Given the description of an element on the screen output the (x, y) to click on. 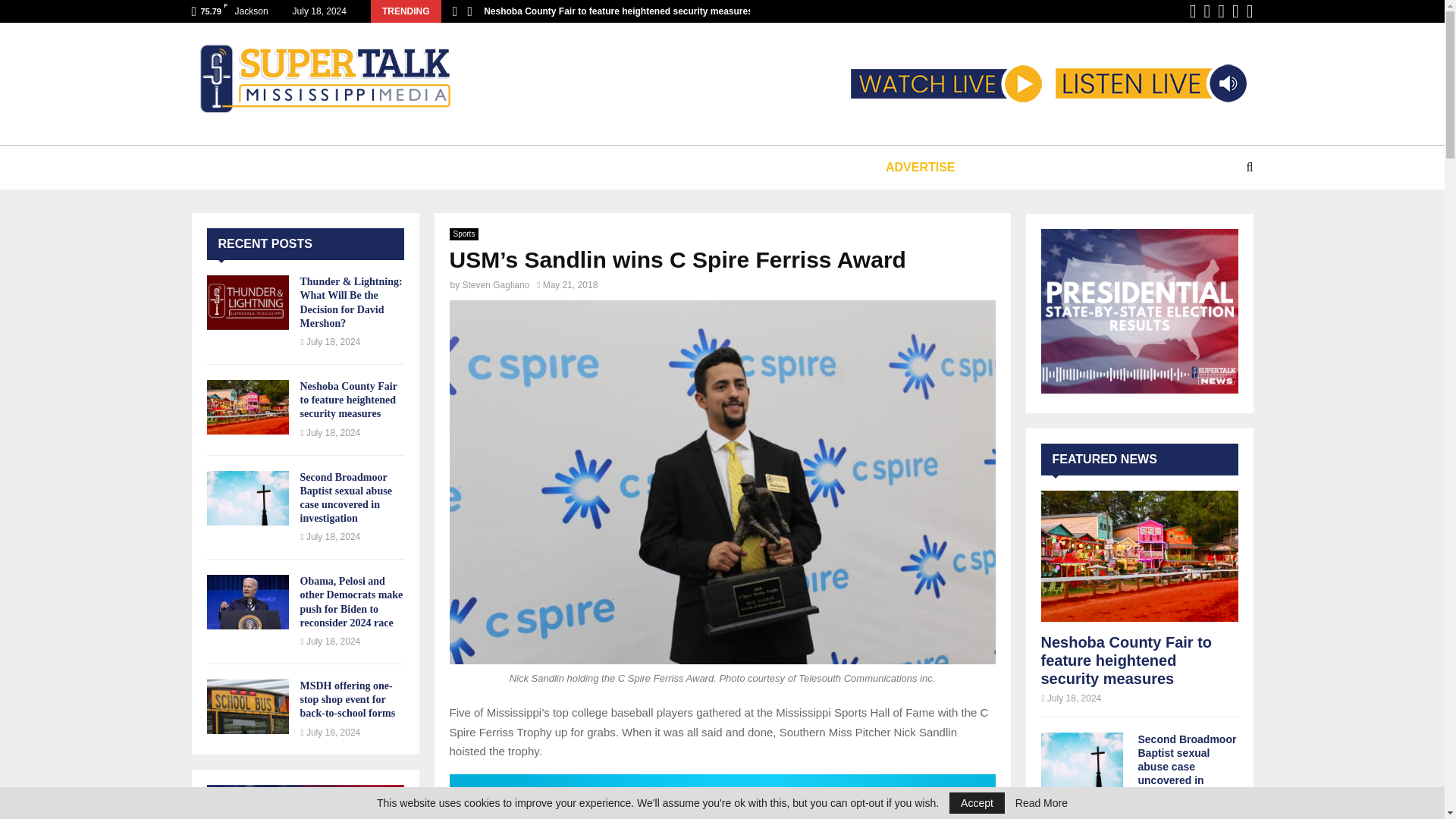
STATIONS (345, 167)
Neshoba County Fair to feature heightened security measures (247, 407)
Facebook (1192, 11)
Linkedin (1220, 11)
Facebook (1192, 11)
Youtube (1235, 11)
Rss (1249, 11)
TUNE IN (255, 167)
Rss (1249, 11)
Twitter (1206, 11)
Neshoba County Fair to feature heightened security measures (617, 10)
Twitter (1206, 11)
Youtube (1235, 11)
Linkedin (1220, 11)
